Given the description of an element on the screen output the (x, y) to click on. 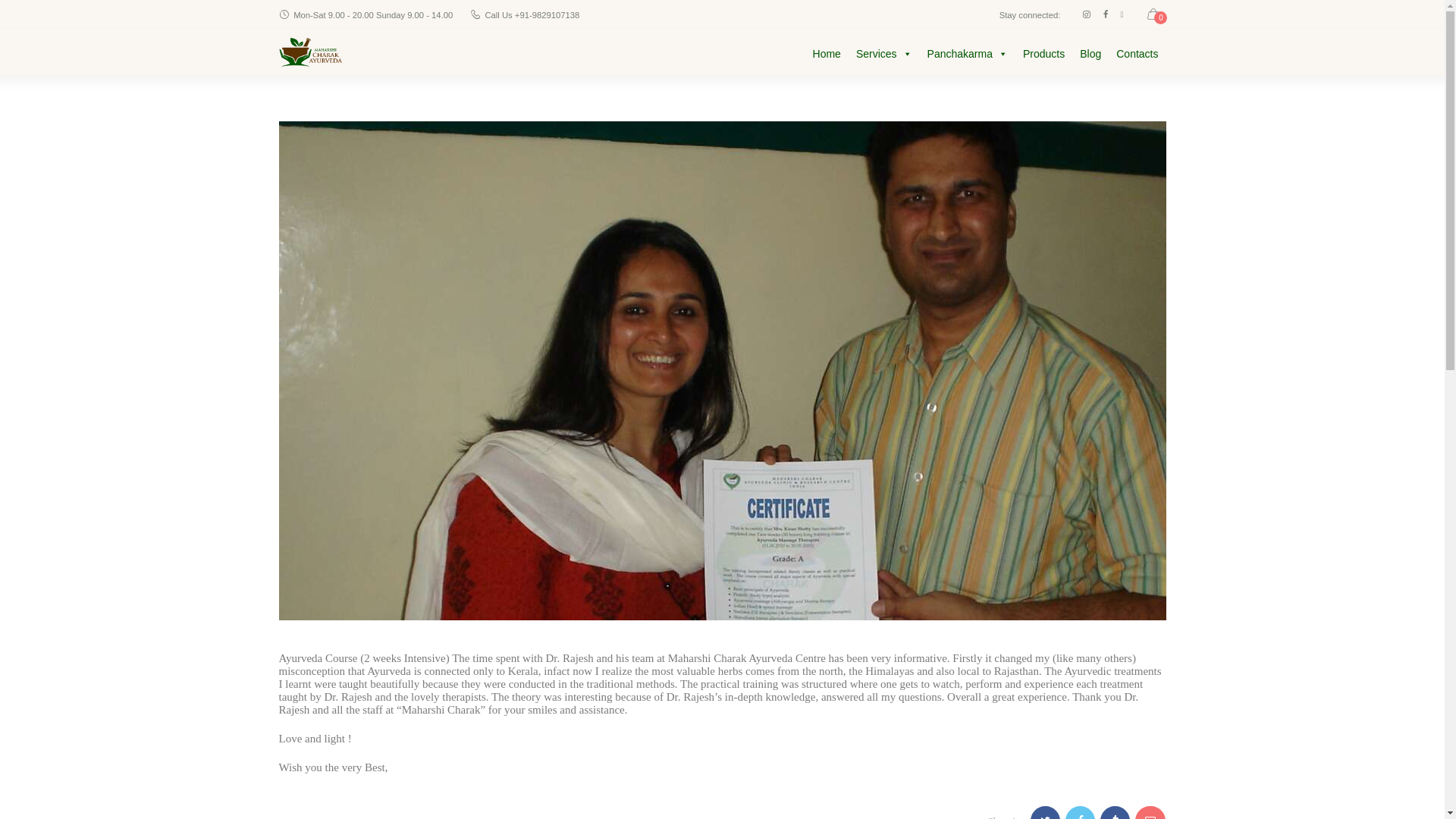
Home (826, 53)
Panchakarma (967, 53)
Services (884, 53)
